Given the description of an element on the screen output the (x, y) to click on. 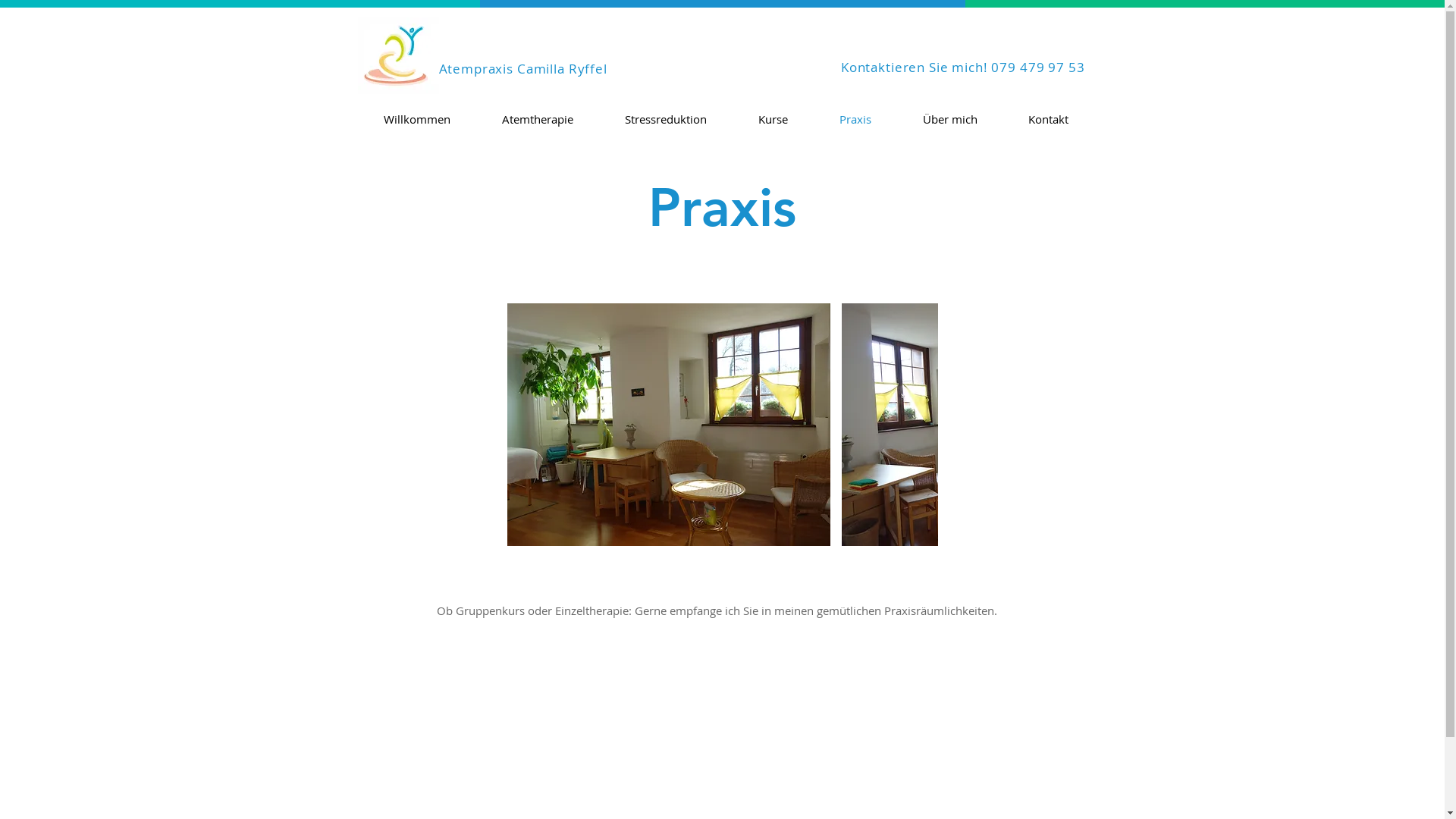
Kontakt Element type: text (1047, 118)
Willkommen Element type: text (416, 118)
Atemtherapie Element type: text (537, 118)
Kontaktieren Sie mich! 079 479 97 53 Element type: text (962, 66)
Kurse Element type: text (772, 118)
Stressreduktion Element type: text (665, 118)
Atempraxis Camilla Ryffel Element type: text (522, 68)
Praxis Element type: text (854, 118)
